Given the description of an element on the screen output the (x, y) to click on. 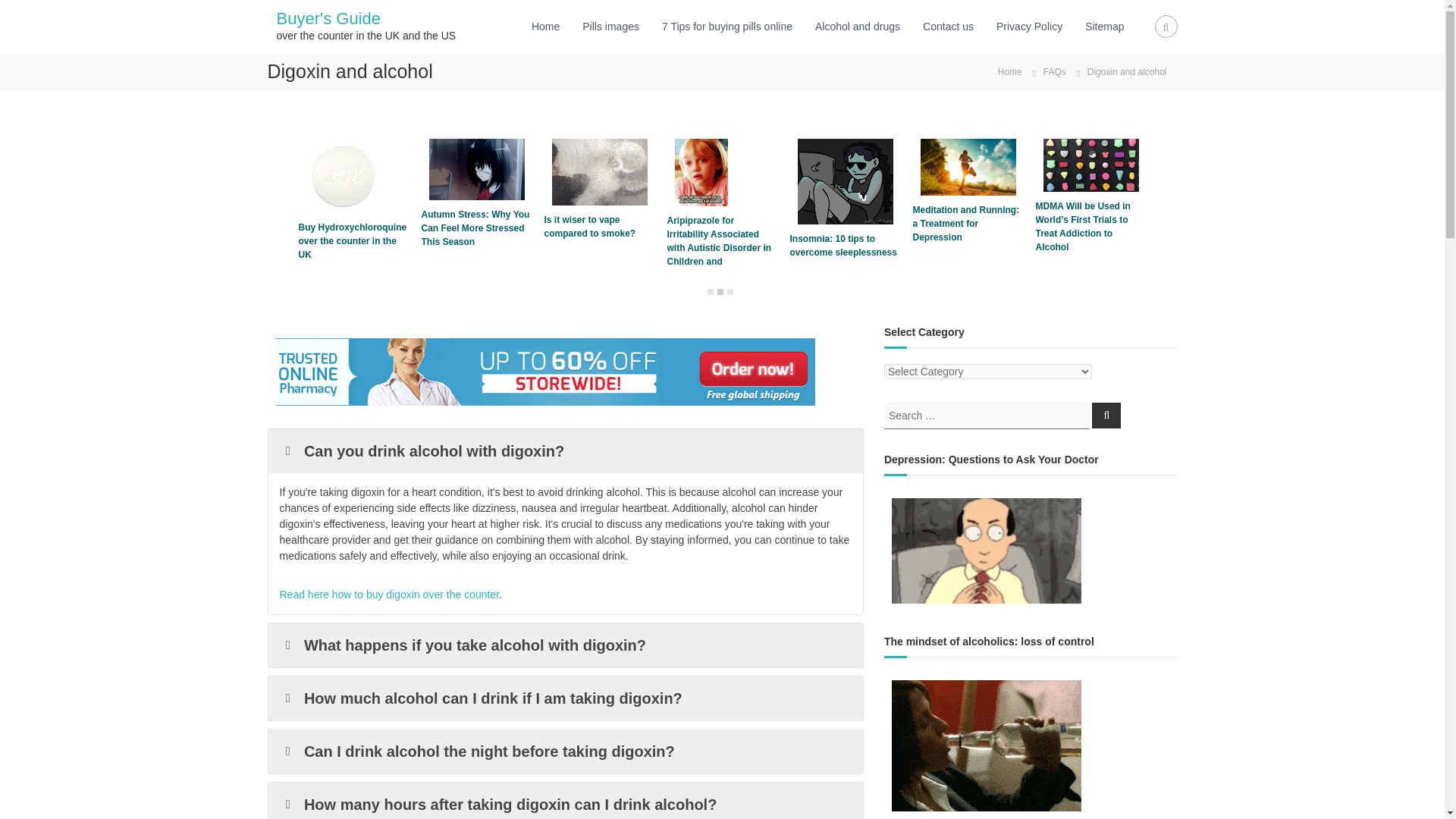
Home (1009, 70)
Buyer's Guide (328, 18)
Meditation and Running: a Treatment for Depression (966, 223)
Insomnia: 10 tips to overcome sleeplessness (845, 180)
Sitemap (1104, 25)
Is it wiser to vape compared to smoke? (599, 171)
Autumn Stress: Why You Can Feel More Stressed This Season (477, 169)
Contact us (948, 25)
Home (1009, 70)
Home (545, 25)
Meditation and Running: a Treatment for Depression (967, 166)
Autumn Stress: Why You Can Feel More Stressed This Season (475, 228)
Alcohol and drugs (857, 25)
Pills images (610, 25)
